Given the description of an element on the screen output the (x, y) to click on. 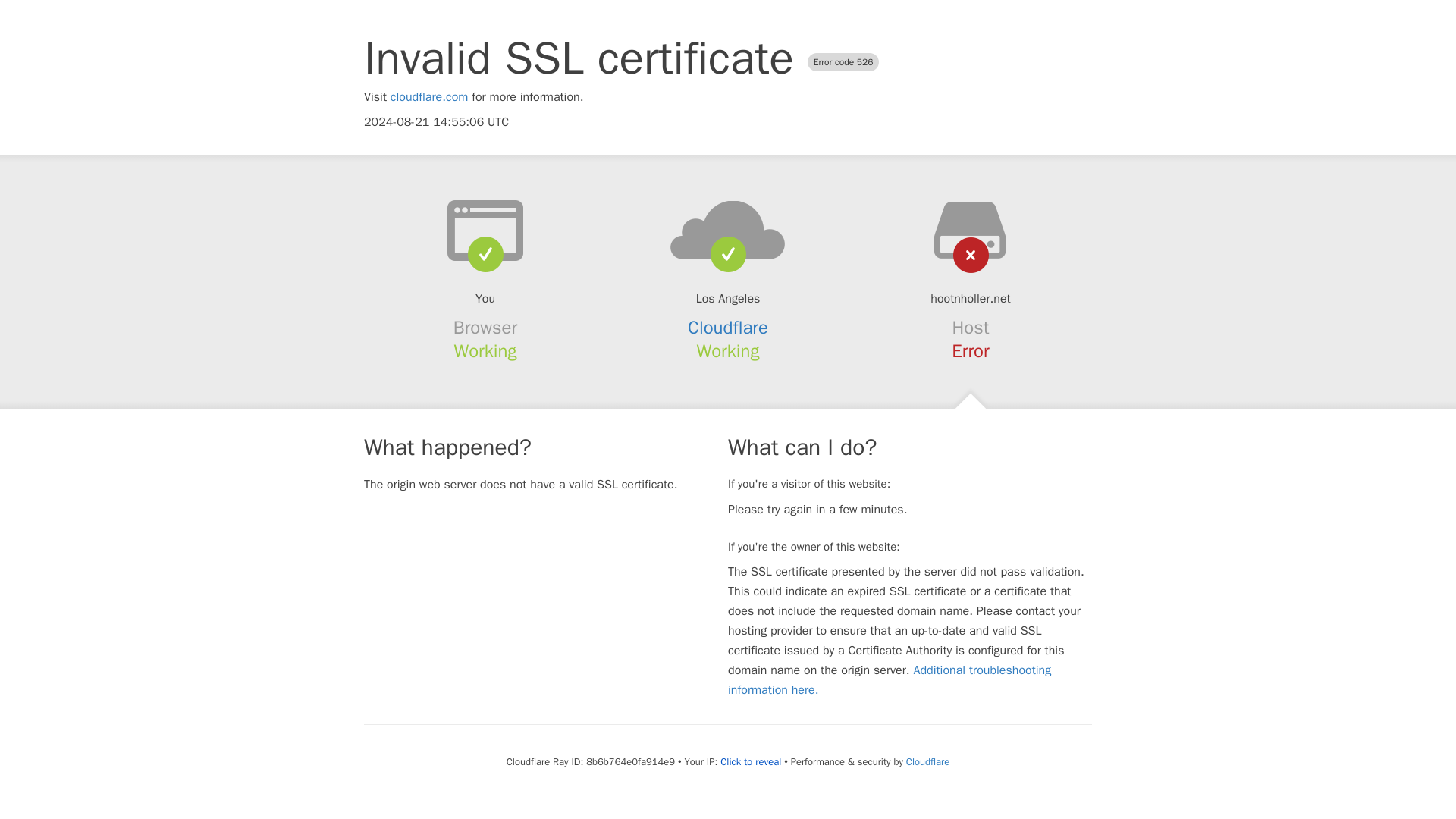
Click to reveal (750, 762)
Cloudflare (927, 761)
Cloudflare (727, 327)
Additional troubleshooting information here. (889, 679)
cloudflare.com (429, 96)
